Given the description of an element on the screen output the (x, y) to click on. 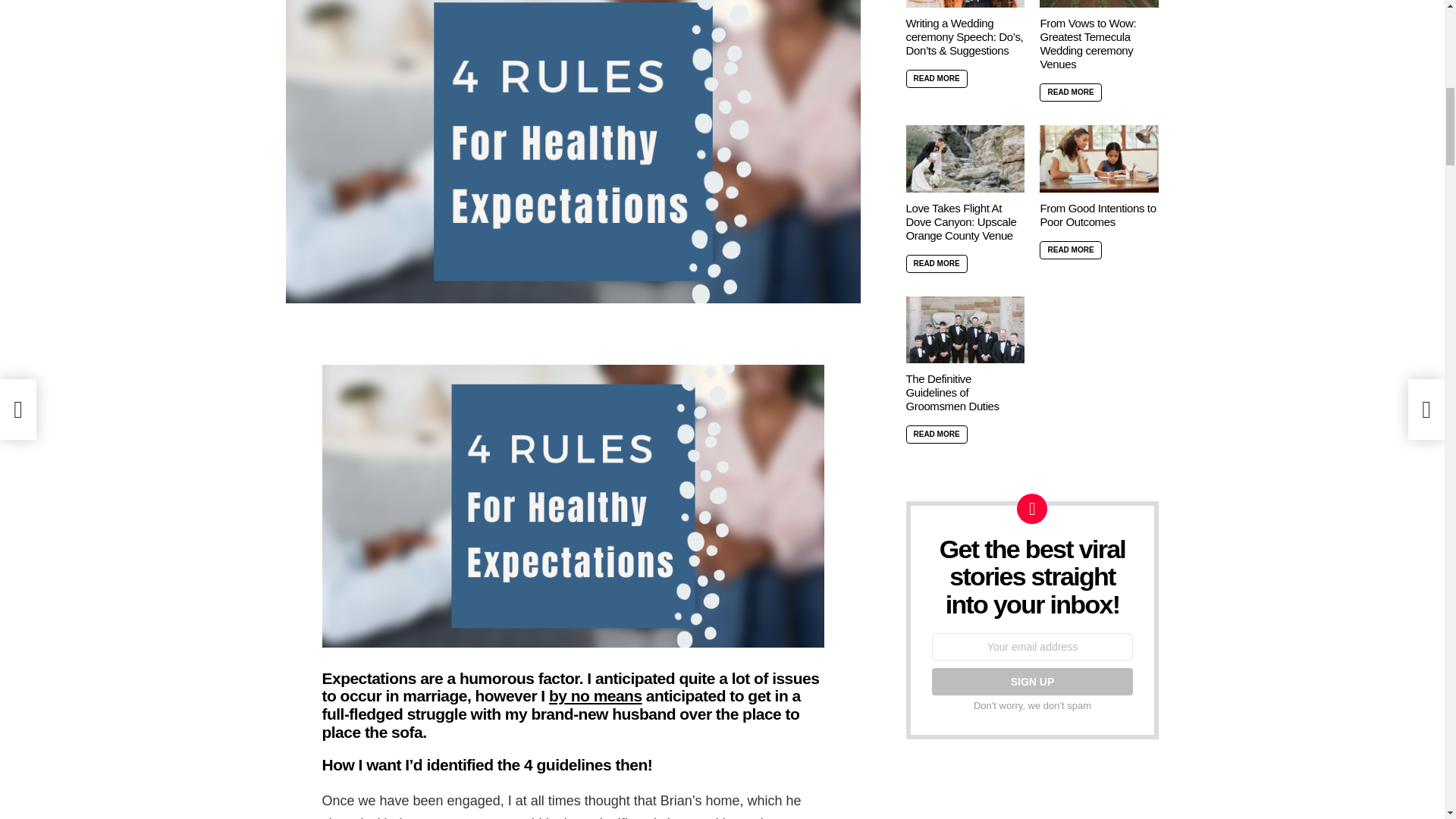
Sign up (1031, 681)
